Given the description of an element on the screen output the (x, y) to click on. 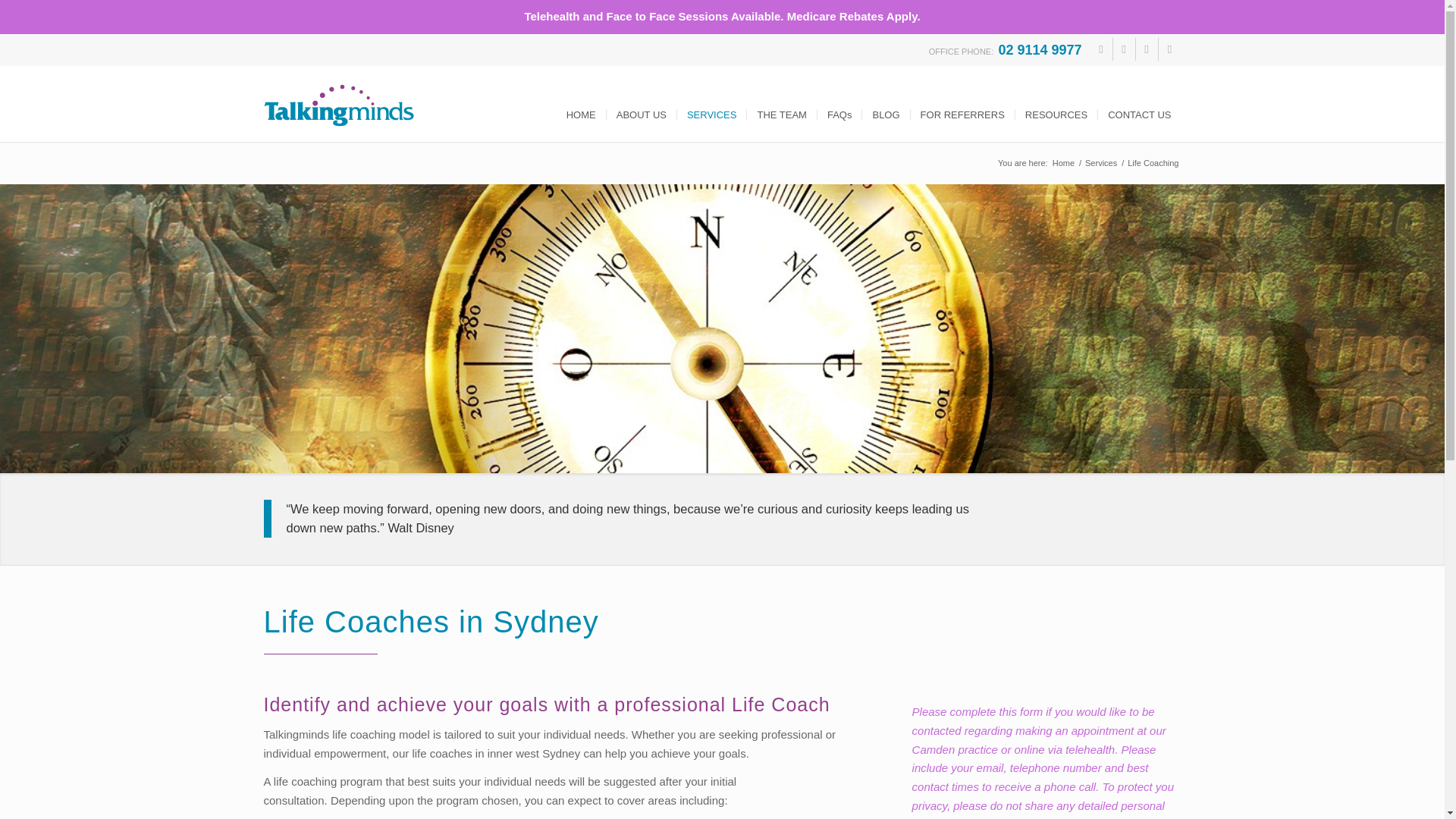
Mail (1169, 48)
Services (1101, 163)
FOR REFERRERS (962, 103)
Services (1101, 163)
Home (1063, 163)
THE TEAM (780, 103)
ABOUT US (641, 103)
Twitter (1124, 48)
CONTACT US (1138, 103)
RESOURCES (1055, 103)
